Given the description of an element on the screen output the (x, y) to click on. 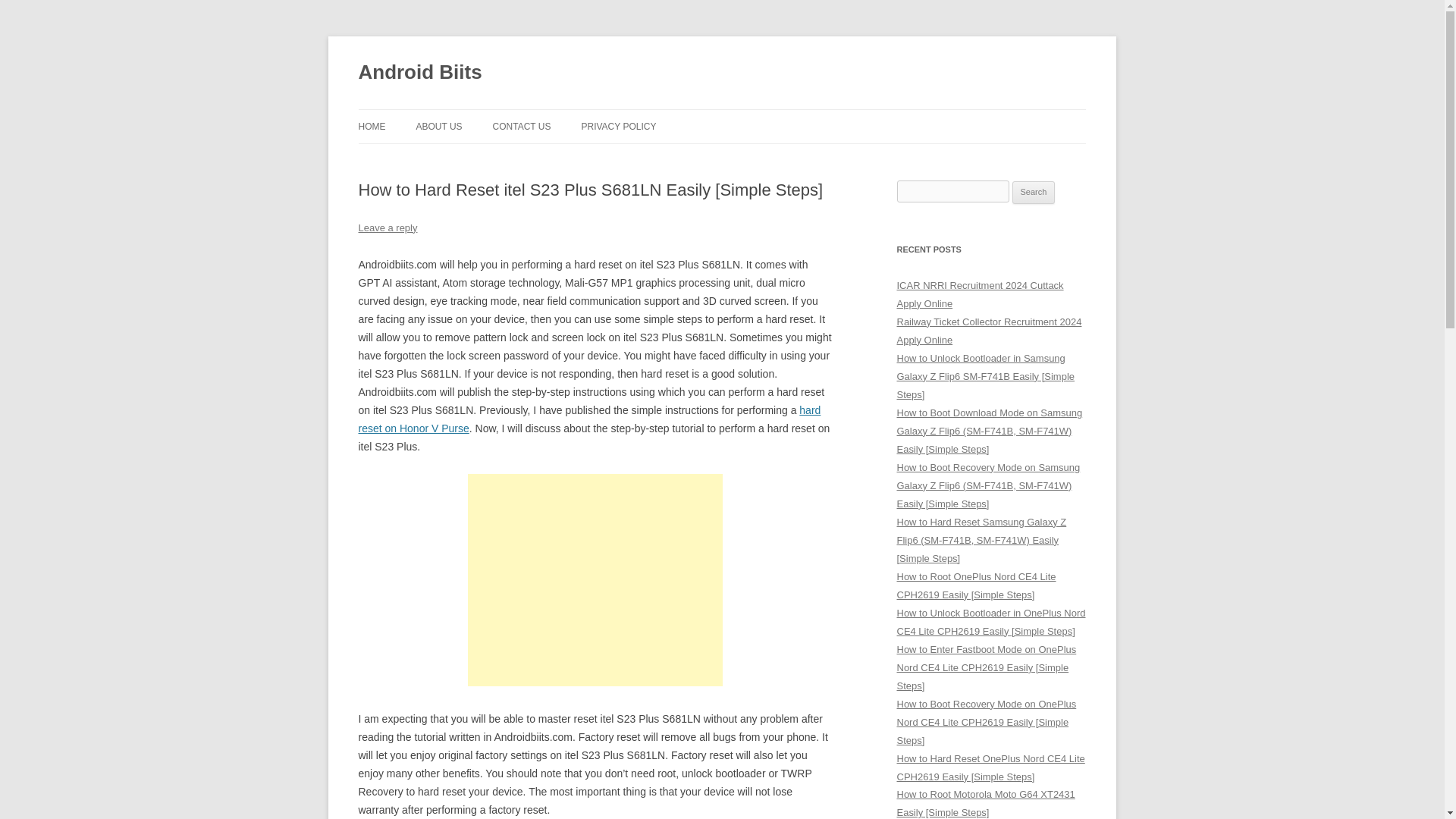
Search (1033, 191)
ABOUT US (437, 126)
Railway Ticket Collector Recruitment 2024 Apply Online (988, 330)
hard reset on Honor V Purse (589, 419)
Android Biits (419, 72)
Android Biits (419, 72)
PRIVACY POLICY (618, 126)
Search (1033, 191)
CONTACT US (522, 126)
Advertisement (594, 580)
Leave a reply (387, 227)
ICAR NRRI Recruitment 2024 Cuttack Apply Online (979, 294)
